Given the description of an element on the screen output the (x, y) to click on. 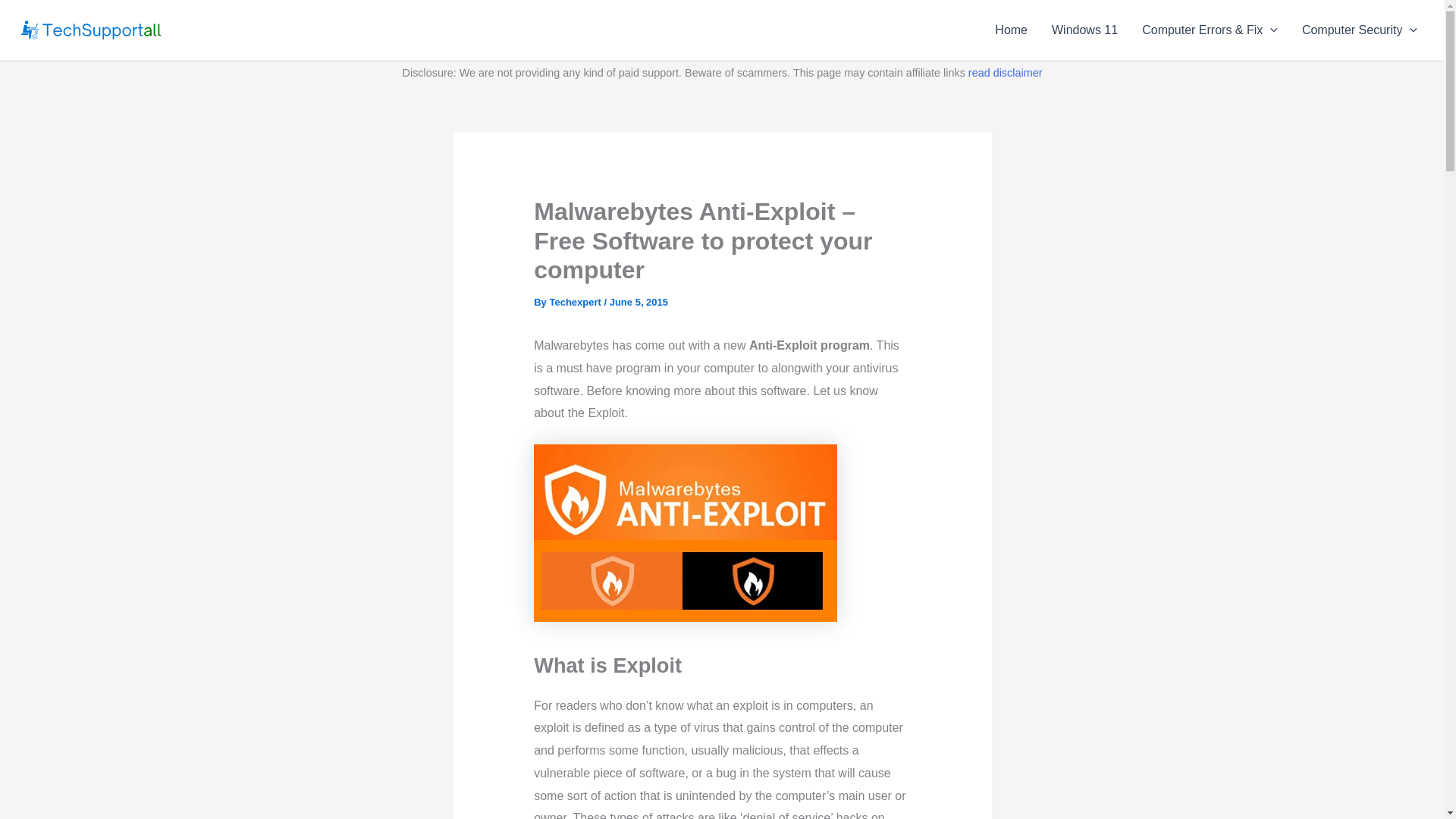
Computer Security (1359, 30)
read disclaimer (1005, 72)
Home (1010, 30)
Windows 11 (1084, 30)
View all posts by Techexpert (576, 301)
Techexpert (576, 301)
